Given the description of an element on the screen output the (x, y) to click on. 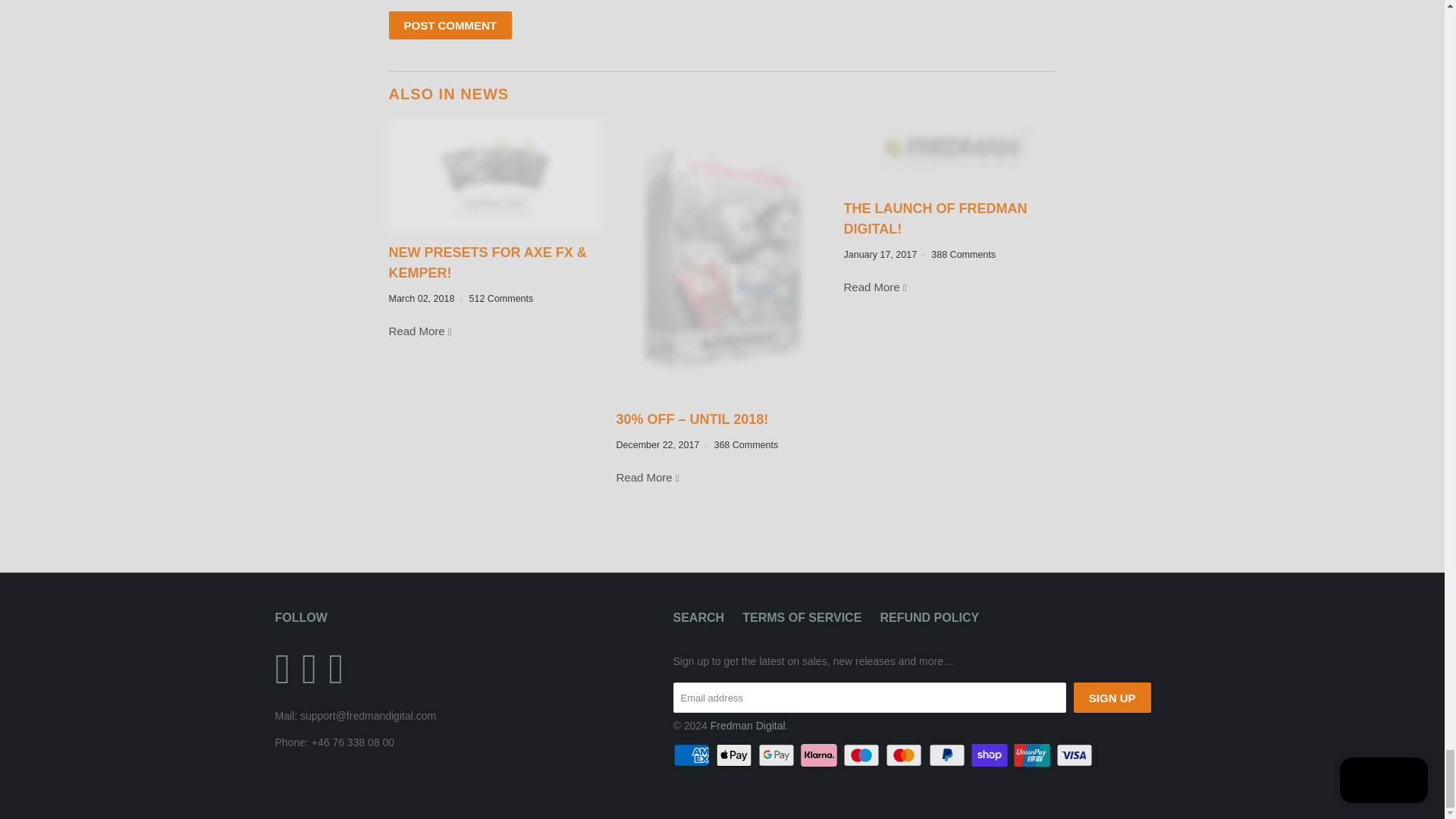
Visa (1076, 754)
Shop Pay (990, 754)
Klarna (820, 754)
Post comment (450, 25)
Google Pay (777, 754)
Maestro (862, 754)
Mastercard (904, 754)
American Express (692, 754)
Sign Up (1112, 697)
Apple Pay (735, 754)
